Given the description of an element on the screen output the (x, y) to click on. 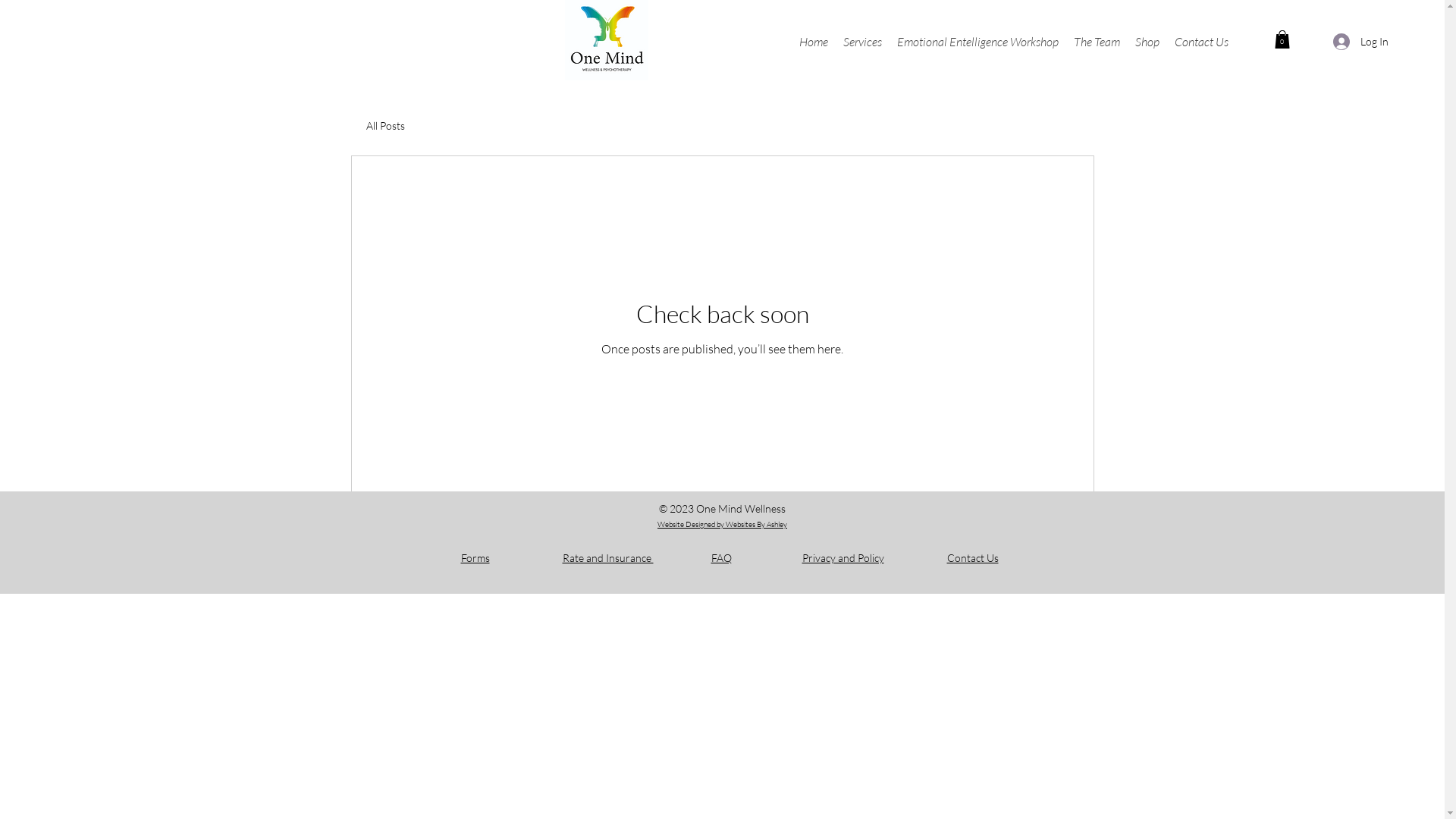
Website Designed by Websites By Ashley Element type: text (722, 524)
Contact Us Element type: text (971, 557)
Privacy and Policy Element type: text (843, 557)
Log In Element type: text (1360, 41)
Emotional Entelligence Workshop Element type: text (977, 41)
Forms Element type: text (475, 557)
FAQ Element type: text (721, 557)
0 Element type: text (1281, 39)
Services Element type: text (862, 41)
Contact Us Element type: text (1201, 41)
Home Element type: text (813, 41)
All Posts Element type: text (384, 124)
The Team Element type: text (1096, 41)
Shop Element type: text (1147, 41)
Rate and Insurance  Element type: text (607, 557)
